Given the description of an element on the screen output the (x, y) to click on. 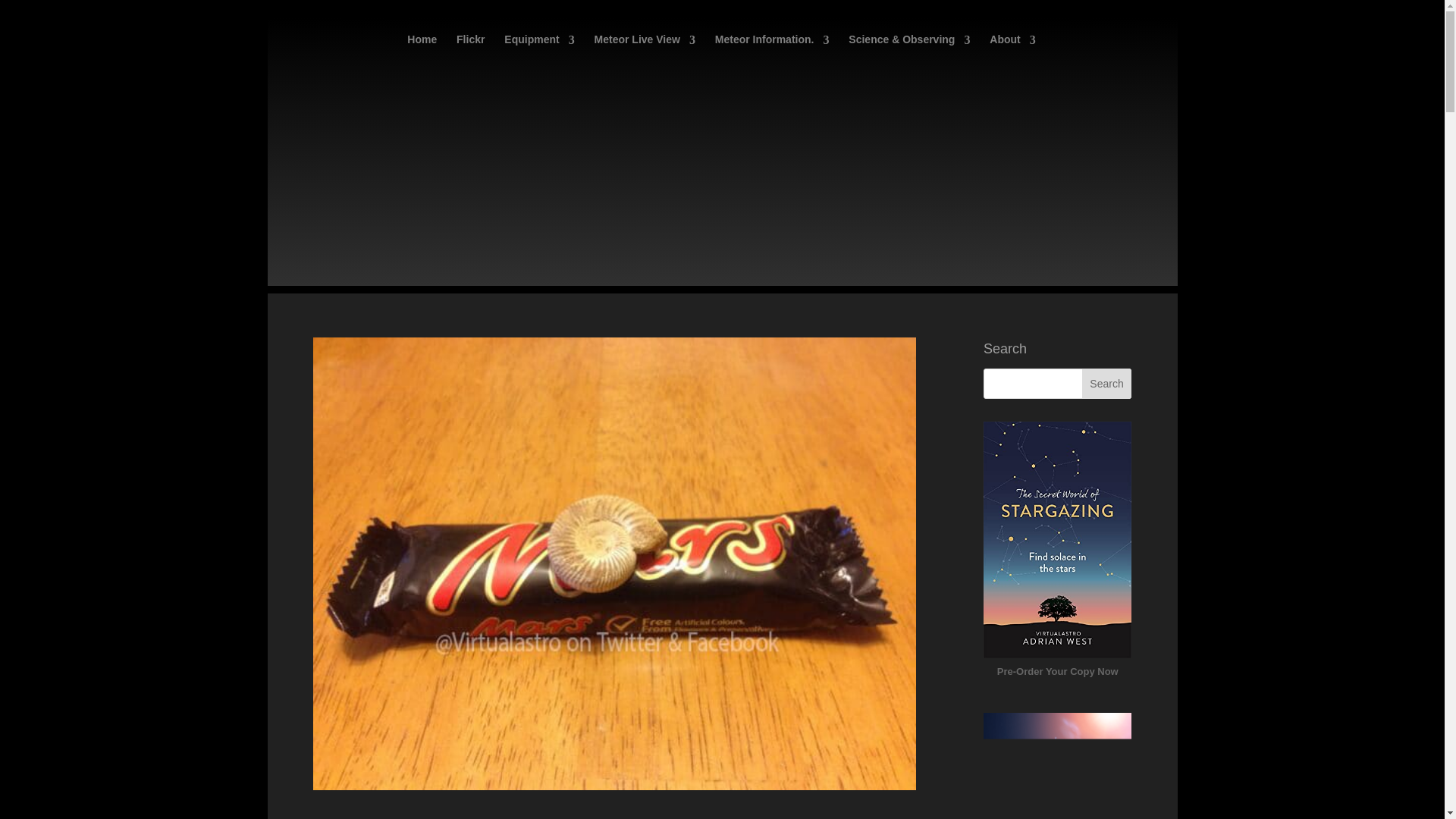
About (1012, 50)
Search (1106, 383)
Meteor Information. (771, 50)
Equipment (538, 50)
Meteor Live View (644, 50)
